Given the description of an element on the screen output the (x, y) to click on. 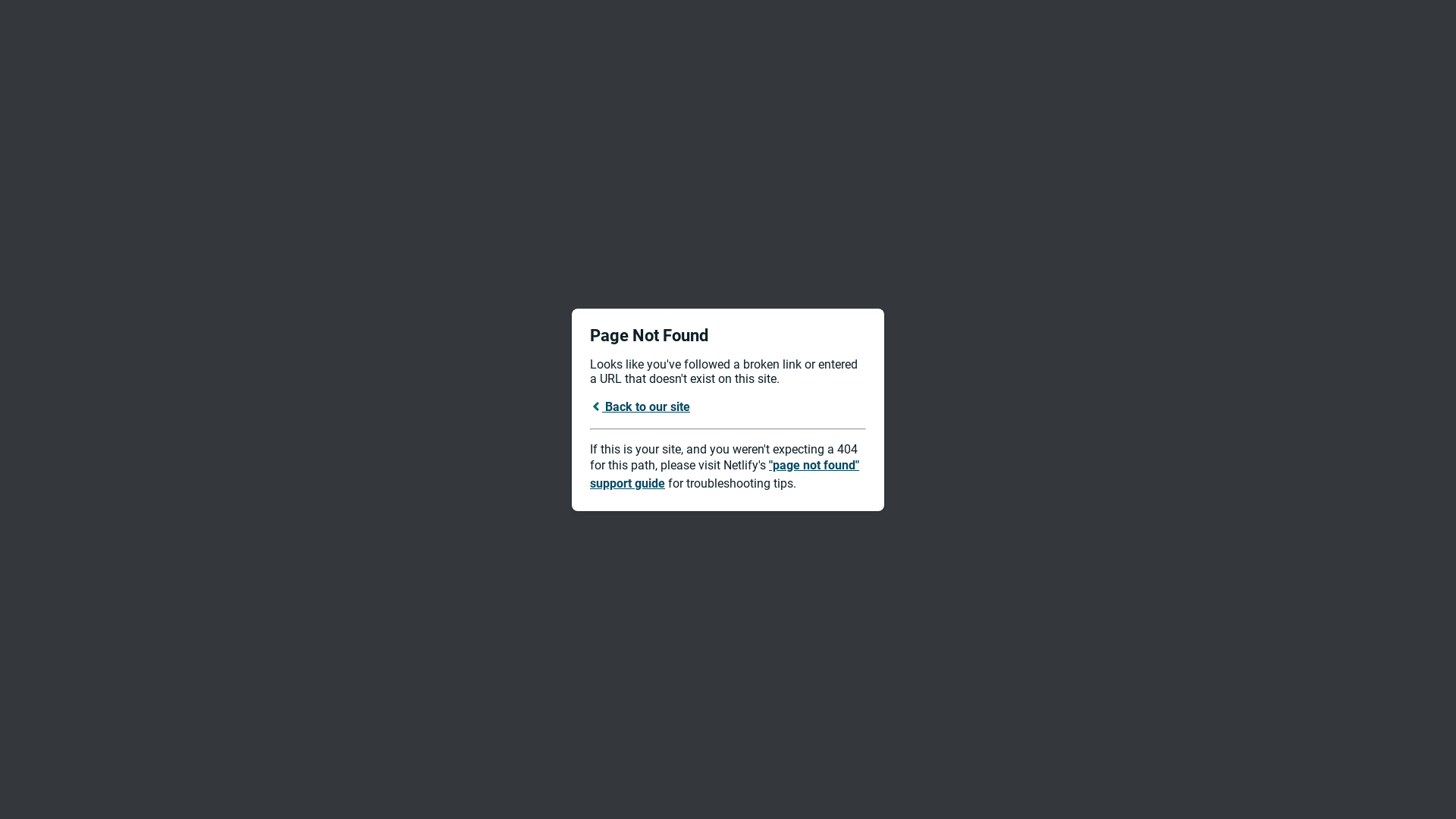
"page not found" support guide Element type: text (724, 474)
Back to our site Element type: text (639, 405)
